Given the description of an element on the screen output the (x, y) to click on. 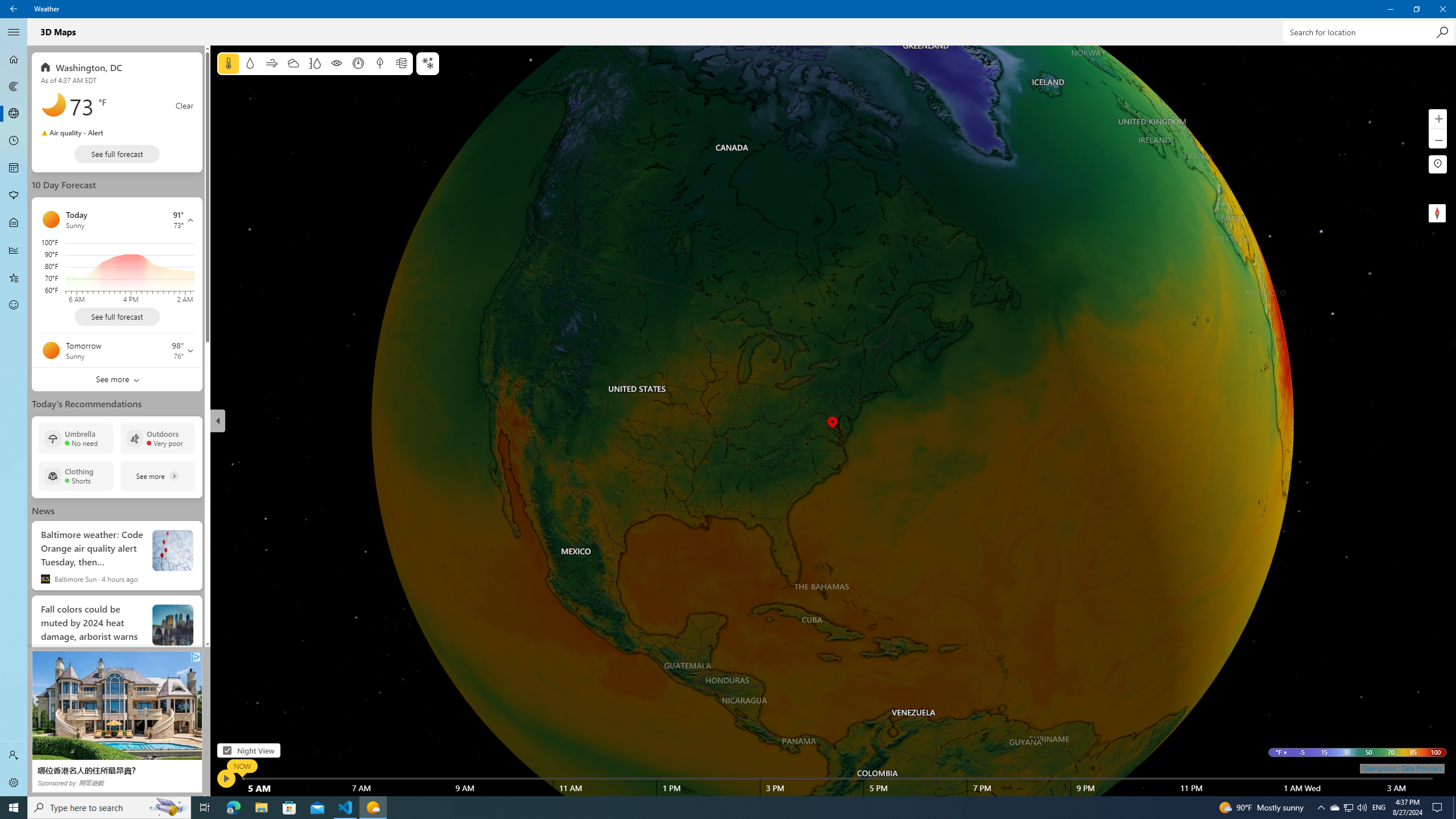
Tray Input Indicator - English (United States) (1378, 807)
Back (13, 9)
Historical Weather - Not Selected (13, 249)
Life - Not Selected (13, 222)
Pollen - Not Selected (13, 195)
Pollen - Not Selected (13, 195)
Collapse Navigation (13, 31)
Maps - Not Selected (13, 85)
